Given the description of an element on the screen output the (x, y) to click on. 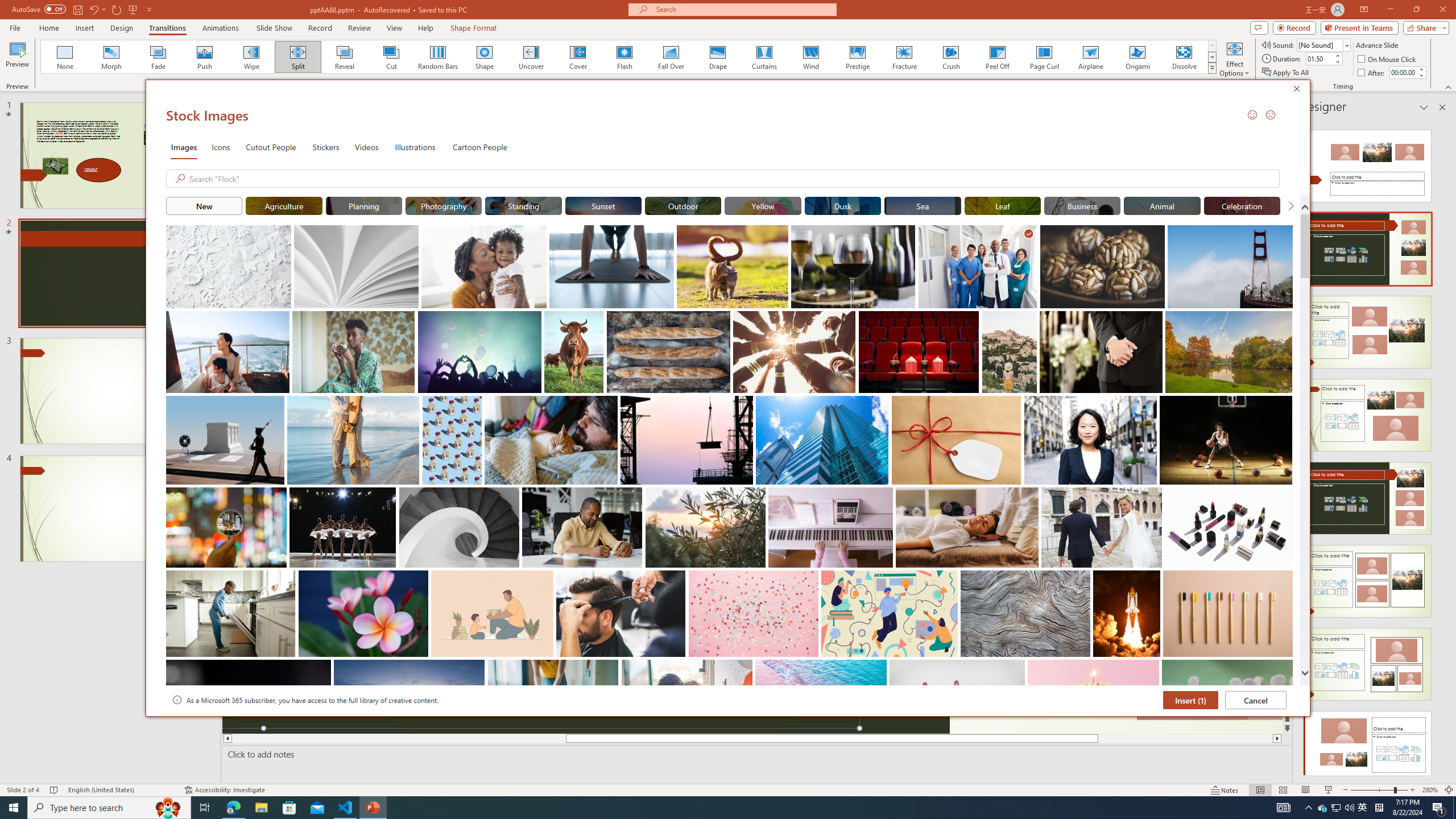
"Sea" Stock Images. (921, 205)
Redo (117, 9)
"Animal" Stock Images. (1162, 205)
Morph (111, 56)
System (6, 6)
Class: MsoCommandBar (728, 789)
Collapse the Ribbon (1448, 86)
Q2790: 100% (1349, 807)
Drape (717, 56)
Comments (1259, 27)
Peel Off (997, 56)
Type here to search (108, 807)
